Given the description of an element on the screen output the (x, y) to click on. 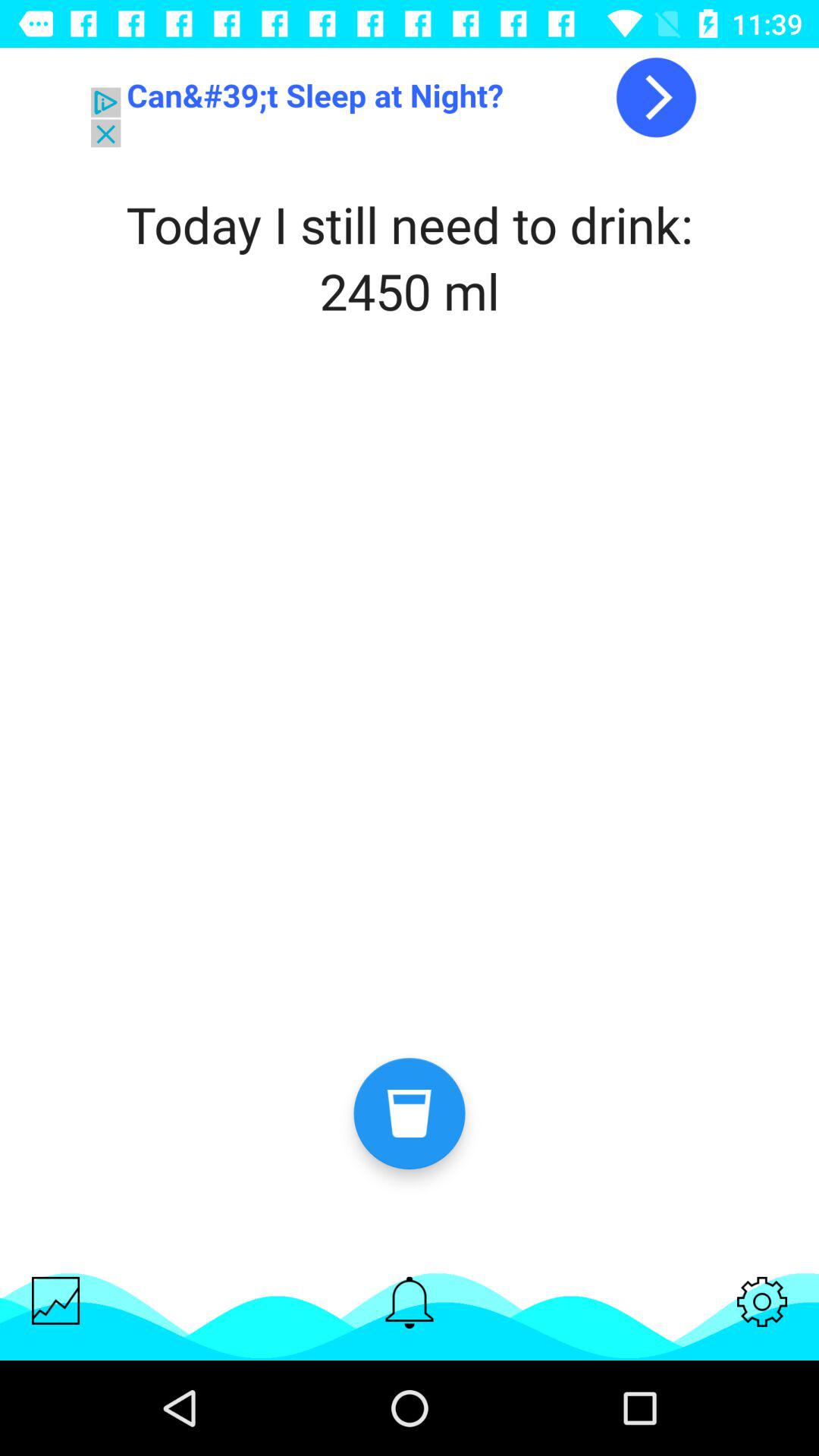
setting app (762, 1301)
